Given the description of an element on the screen output the (x, y) to click on. 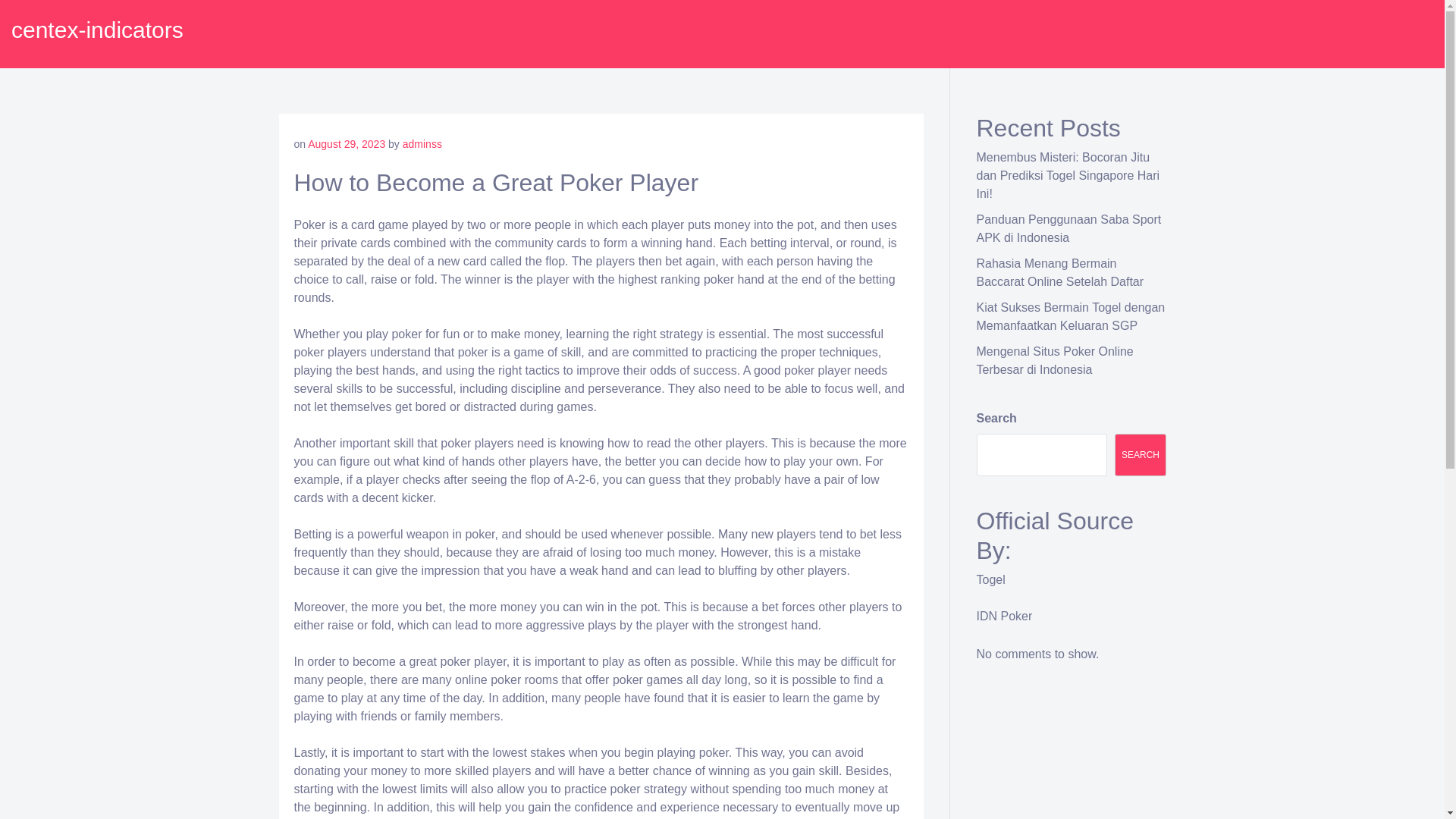
centex-indicators (97, 29)
Mengenal Situs Poker Online Terbesar di Indonesia (1055, 359)
IDN Poker (1004, 615)
SEARCH (1140, 454)
adminss (422, 143)
Rahasia Menang Bermain Baccarat Online Setelah Daftar (1060, 272)
August 29, 2023 (346, 143)
Kiat Sukses Bermain Togel dengan Memanfaatkan Keluaran SGP (1071, 316)
Panduan Penggunaan Saba Sport APK di Indonesia (1068, 228)
Togel (991, 579)
